Given the description of an element on the screen output the (x, y) to click on. 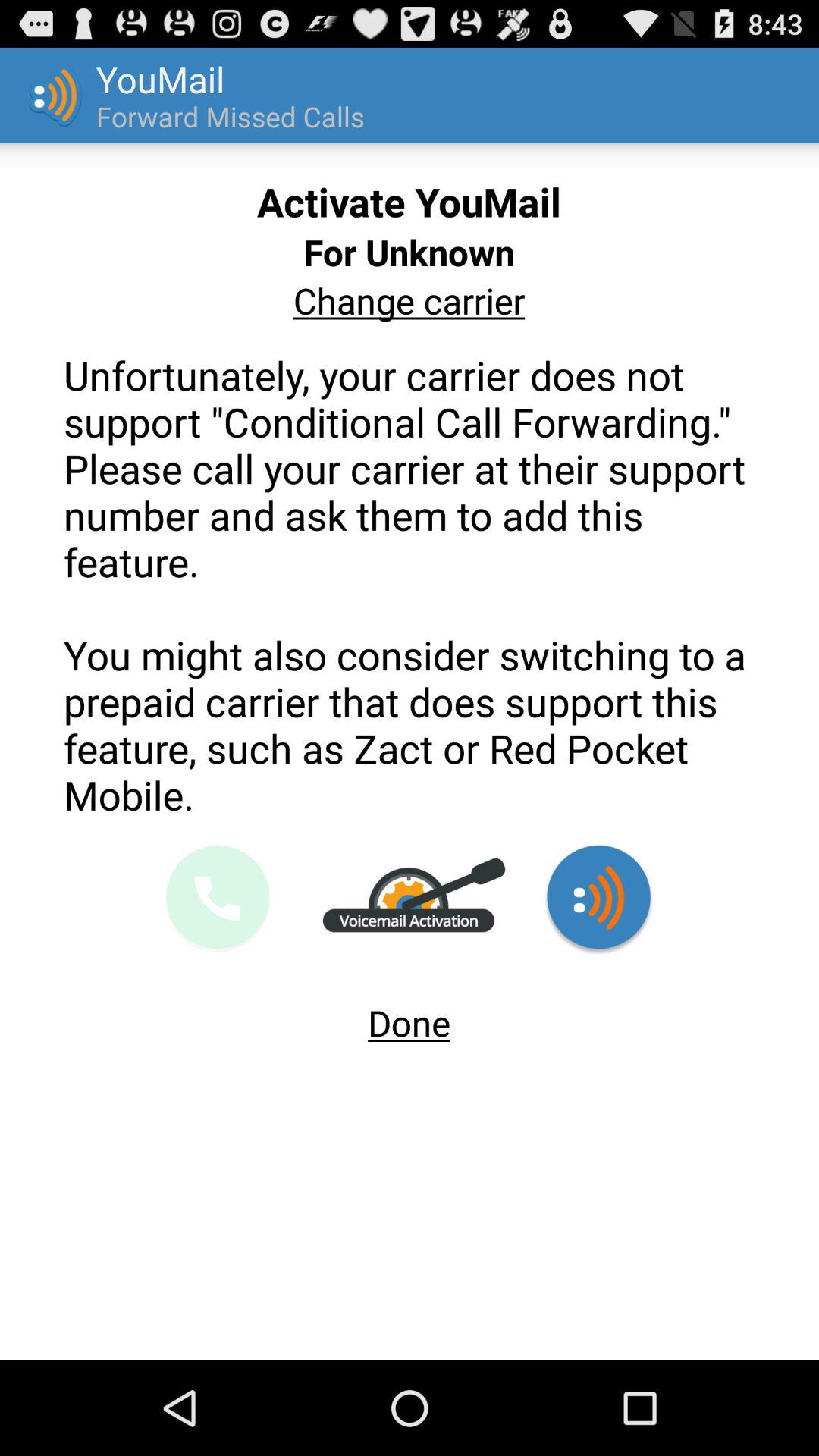
launch app at the bottom (408, 1016)
